Given the description of an element on the screen output the (x, y) to click on. 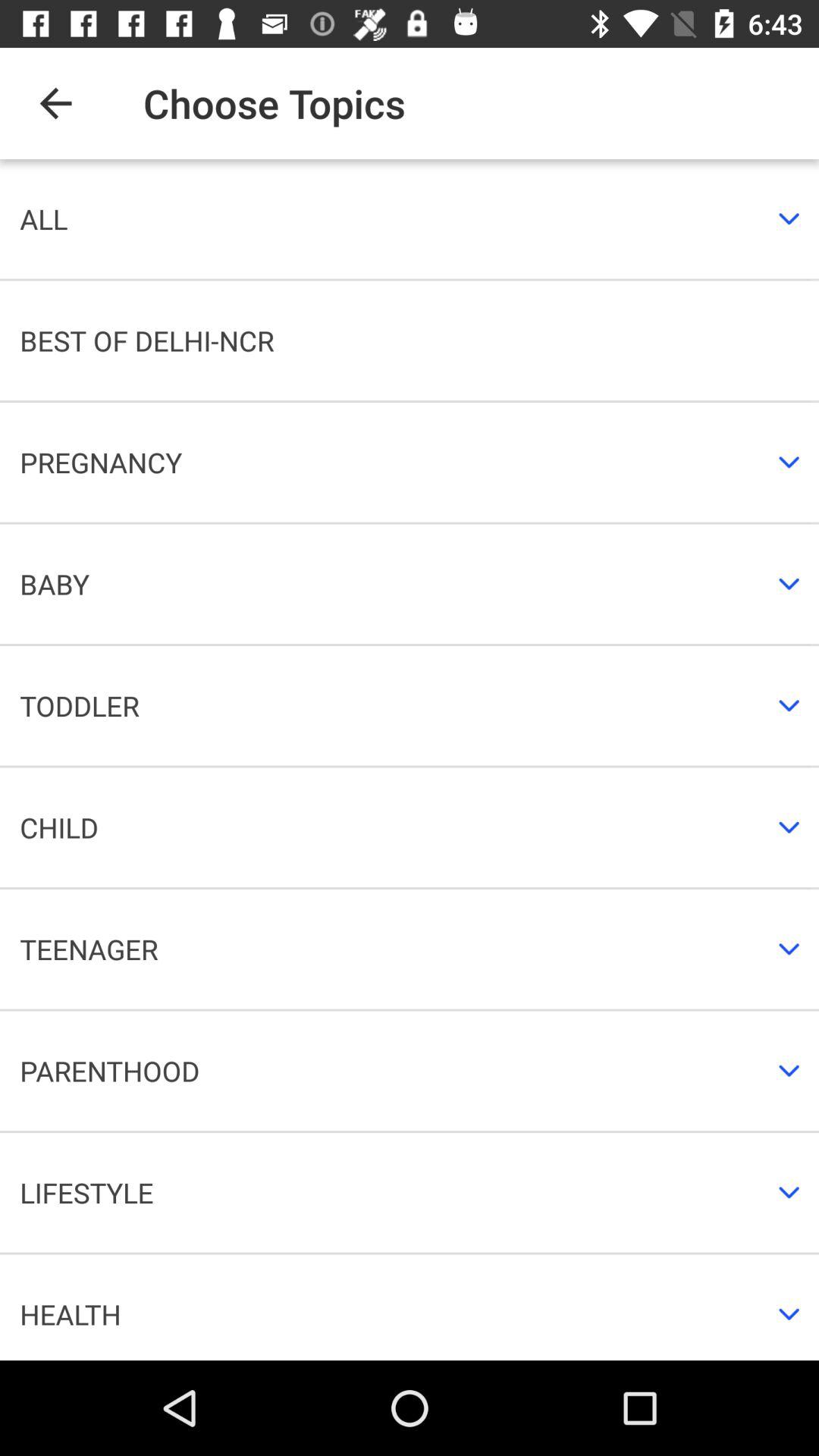
click on drop down at toddler (789, 705)
